Given the description of an element on the screen output the (x, y) to click on. 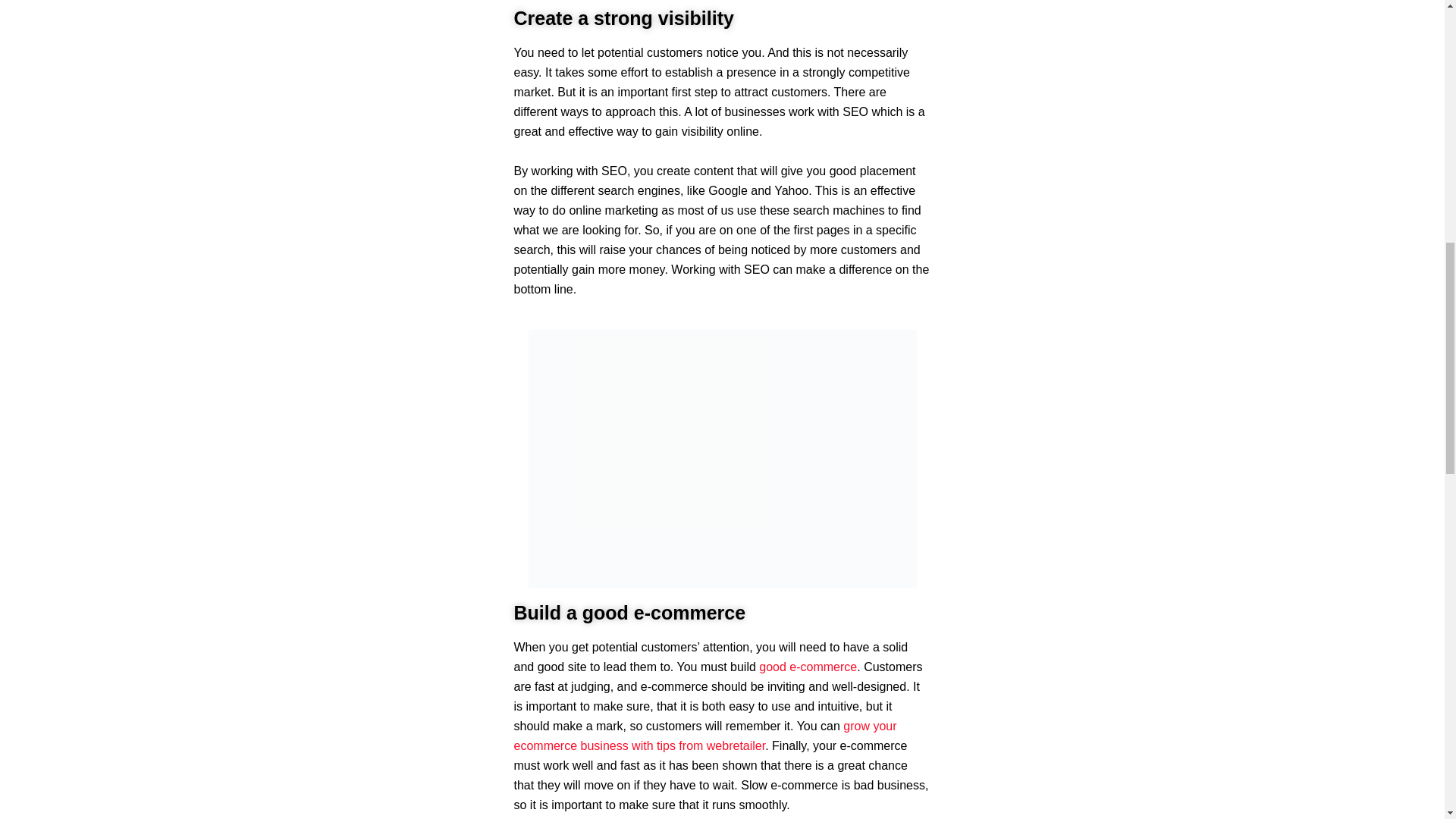
How to be successful with your online sales 1 (721, 459)
good e-commerce (807, 666)
grow your ecommerce business with tips from webretailer (704, 735)
